Given the description of an element on the screen output the (x, y) to click on. 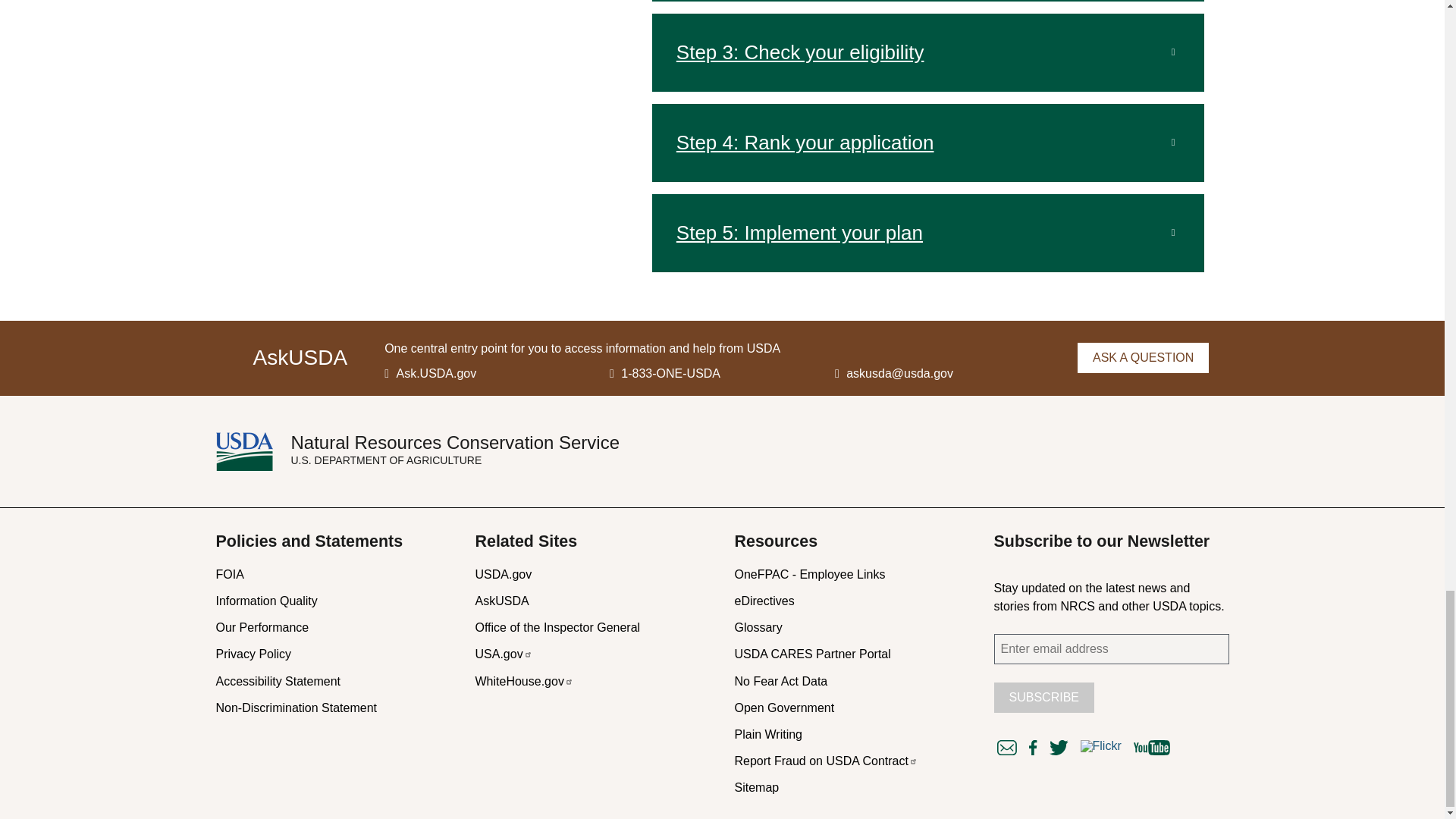
Subscribe (1042, 697)
Natural Resources Conservation Service (252, 451)
Natural Resources Conservation Service (455, 443)
All-employee and NRCS-employee resources (809, 574)
